Given the description of an element on the screen output the (x, y) to click on. 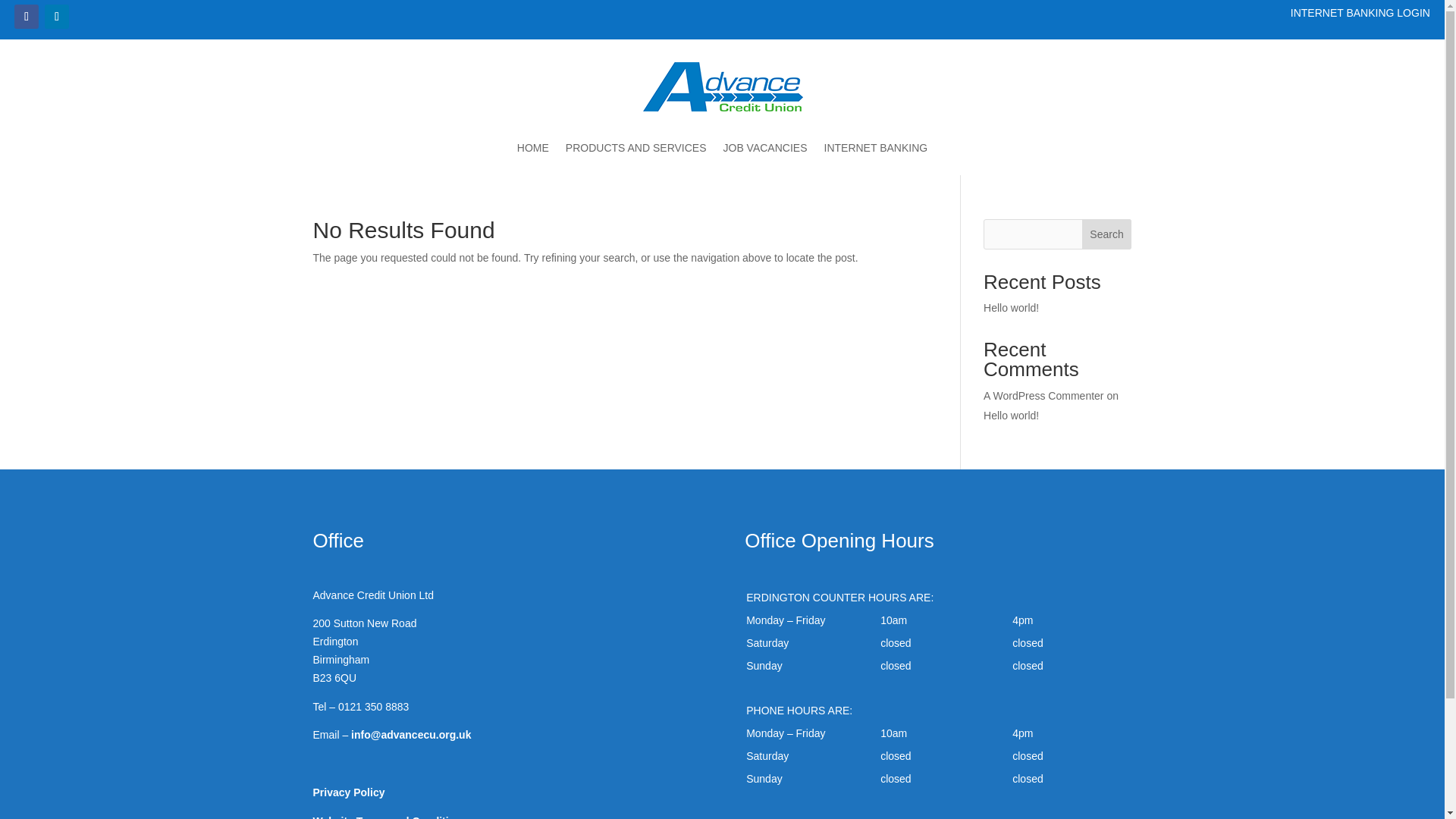
HOME (532, 150)
Website Terms and Conditions (390, 816)
Follow on Facebook (26, 16)
advance-web-logo (721, 86)
Hello world! (1011, 307)
Follow on LinkedIn (56, 16)
INTERNET BANKING LOGIN (1359, 12)
JOB VACANCIES (765, 150)
Hello world! (1011, 415)
PRODUCTS AND SERVICES (636, 150)
